Given the description of an element on the screen output the (x, y) to click on. 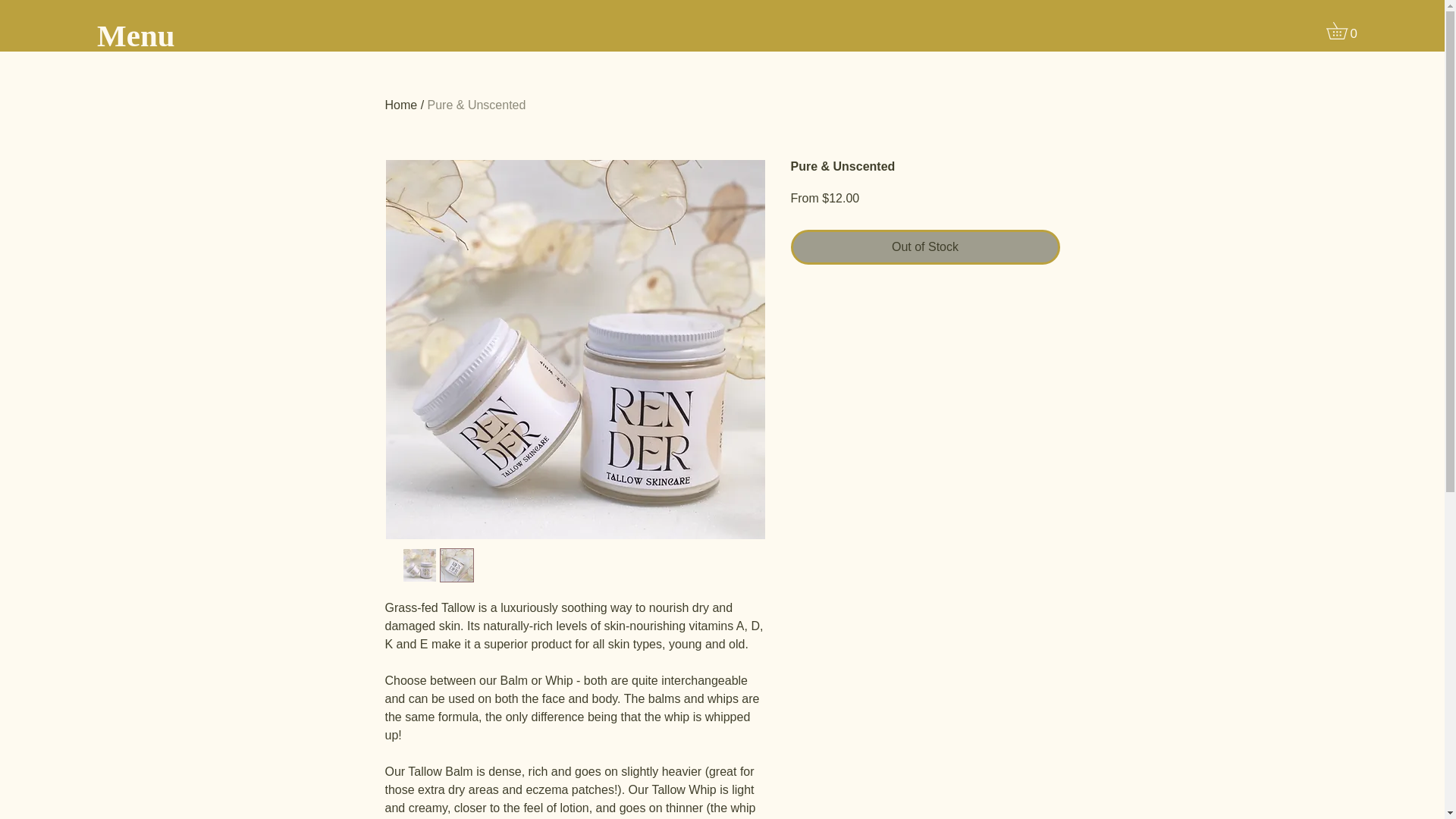
0 (1345, 30)
Home (401, 104)
Menu (135, 36)
Out of Stock (924, 247)
0 (1345, 30)
